Given the description of an element on the screen output the (x, y) to click on. 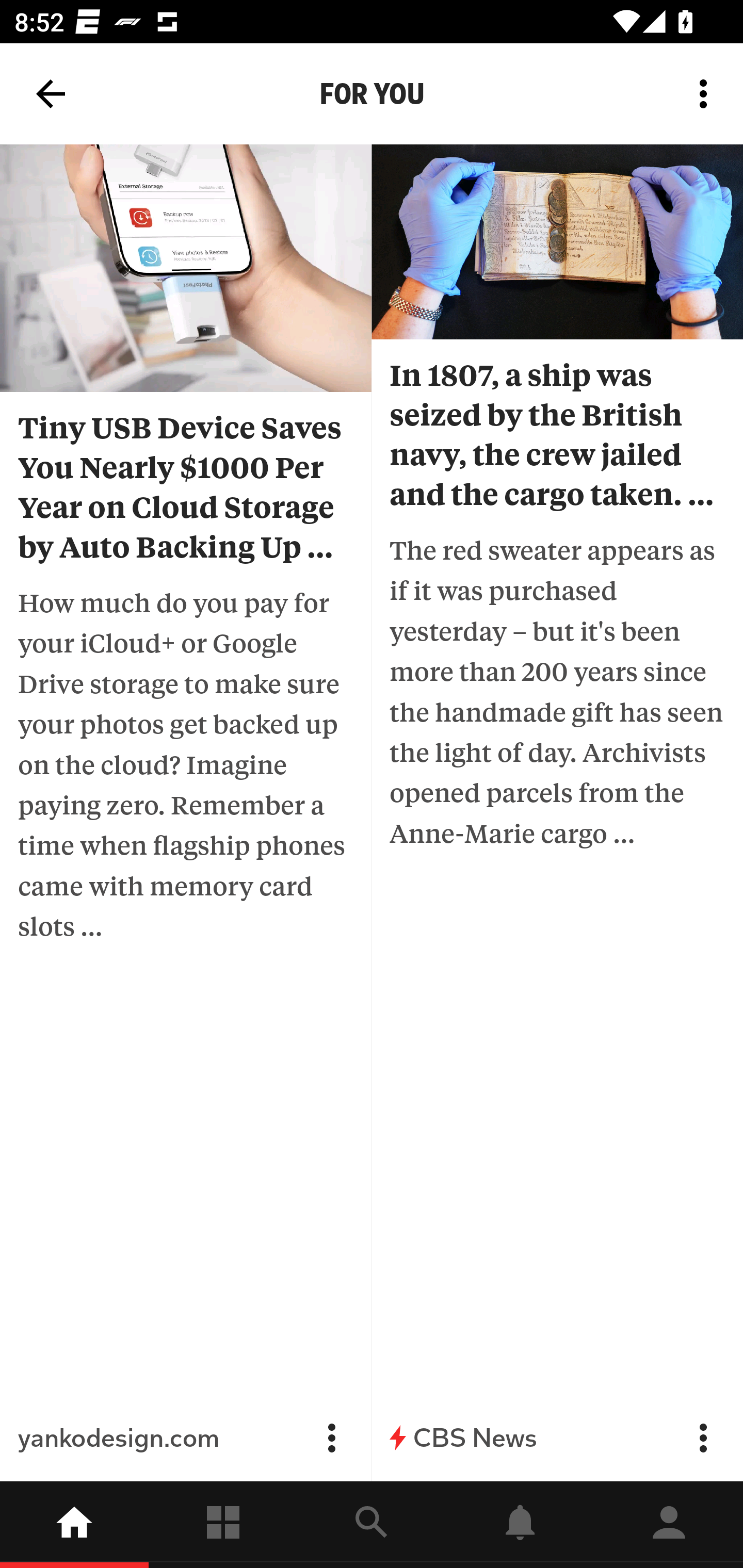
Back (50, 93)
More options (706, 93)
yankodesign.com Flip into Magazine (185, 1437)
CBS News Flip into Magazine (557, 1437)
Flip into Magazine (331, 1437)
Flip into Magazine (703, 1437)
home (74, 1524)
Following (222, 1524)
explore (371, 1524)
Notifications (519, 1524)
Profile (668, 1524)
